Given the description of an element on the screen output the (x, y) to click on. 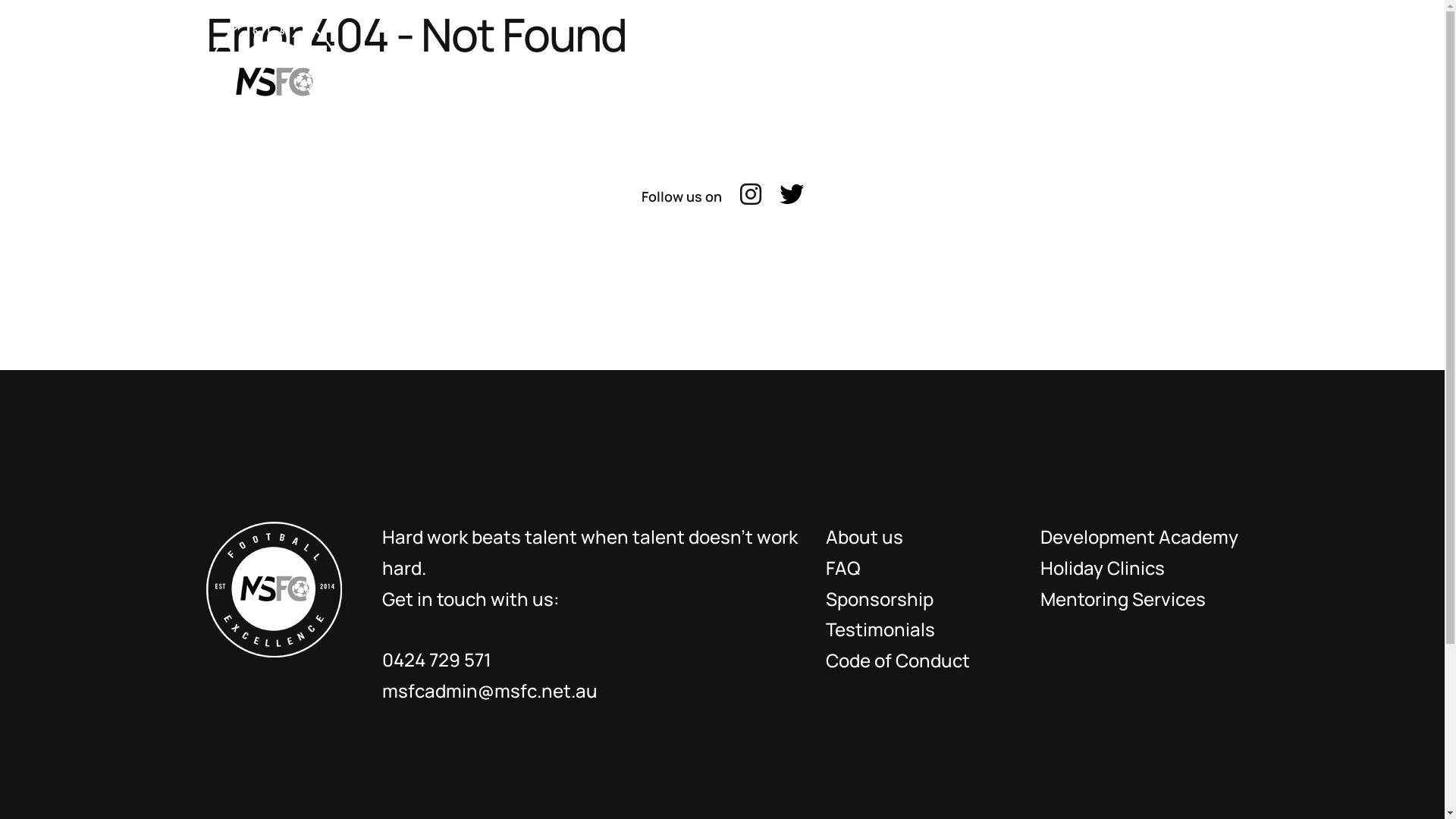
Code of Conduct Element type: text (897, 659)
Mentoring Services Element type: text (1122, 598)
About us Element type: text (864, 536)
Testimonials Element type: text (880, 628)
Holiday Clinics Element type: text (1102, 567)
Programs Element type: text (848, 80)
msfcadmin@msfc.net.au Element type: text (489, 689)
Development Academy Element type: text (1139, 536)
Sponsorship Element type: text (879, 598)
Home Element type: text (531, 80)
Gallery Element type: text (951, 80)
Shop Element type: text (1039, 80)
Coaches Element type: text (738, 80)
FAQ Element type: text (842, 567)
About Us Element type: text (629, 80)
Contact & Location Element type: text (1170, 80)
